Given the description of an element on the screen output the (x, y) to click on. 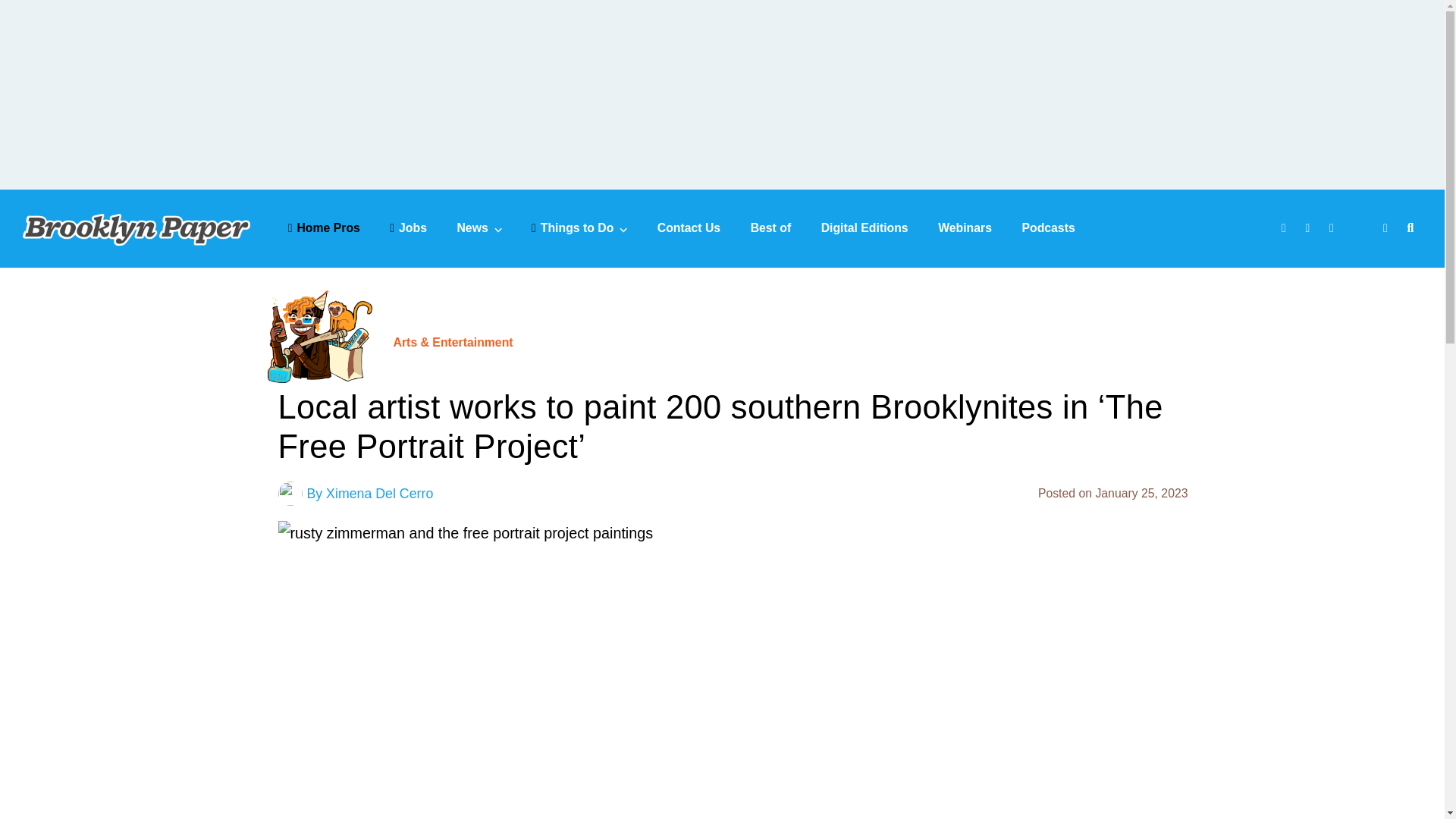
Home Pros (323, 227)
Webinars (964, 227)
Posts by Ximena Del Cerro (379, 493)
Things to Do (579, 227)
Best of (771, 227)
News (478, 227)
Digital Editions (864, 227)
Jobs (408, 227)
Podcasts (1048, 227)
Contact Us (689, 227)
